Given the description of an element on the screen output the (x, y) to click on. 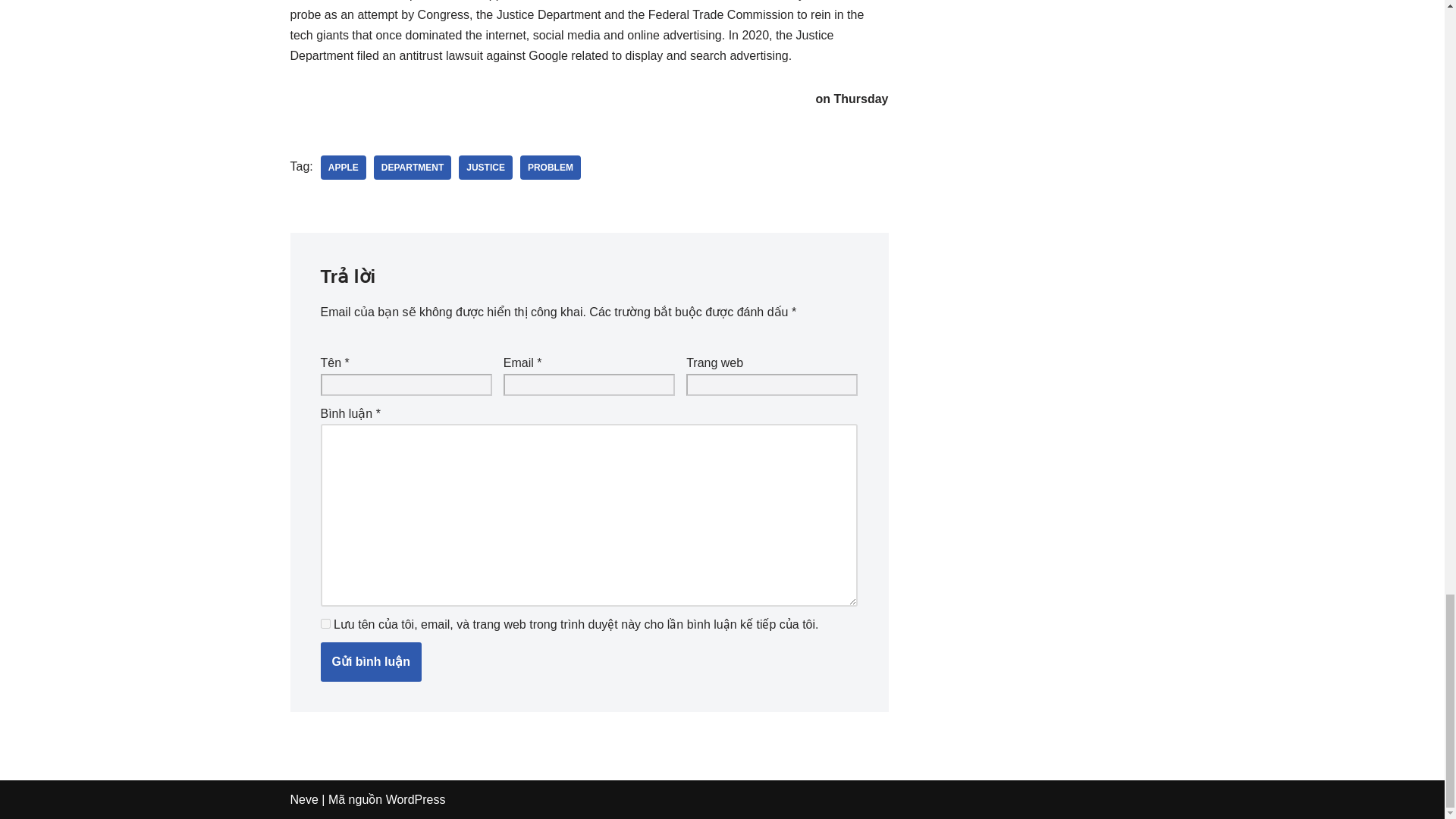
Department (412, 167)
problem (549, 167)
DEPARTMENT (412, 167)
yes (325, 623)
Apple (343, 167)
Justice (485, 167)
PROBLEM (549, 167)
APPLE (343, 167)
JUSTICE (485, 167)
